Given the description of an element on the screen output the (x, y) to click on. 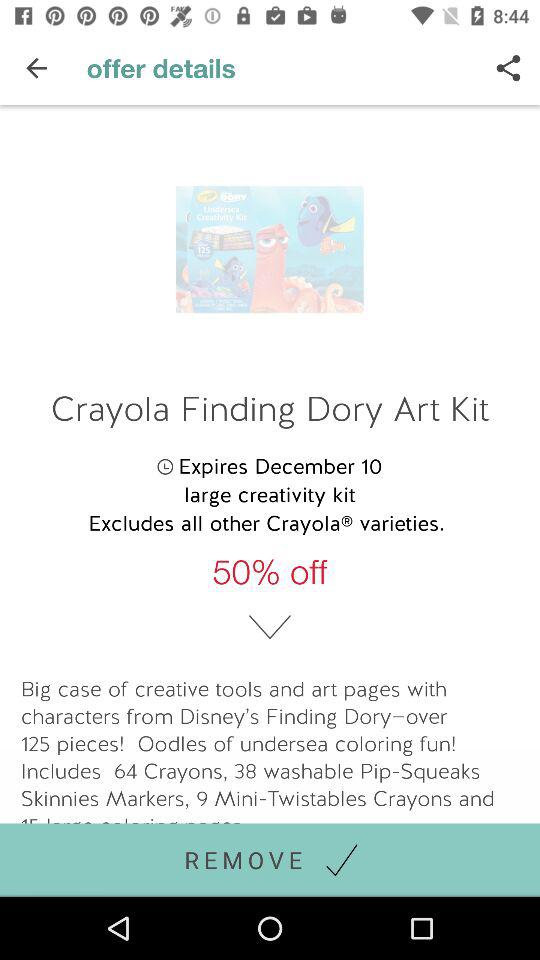
turn off the icon to the right of the offer details (508, 67)
